Given the description of an element on the screen output the (x, y) to click on. 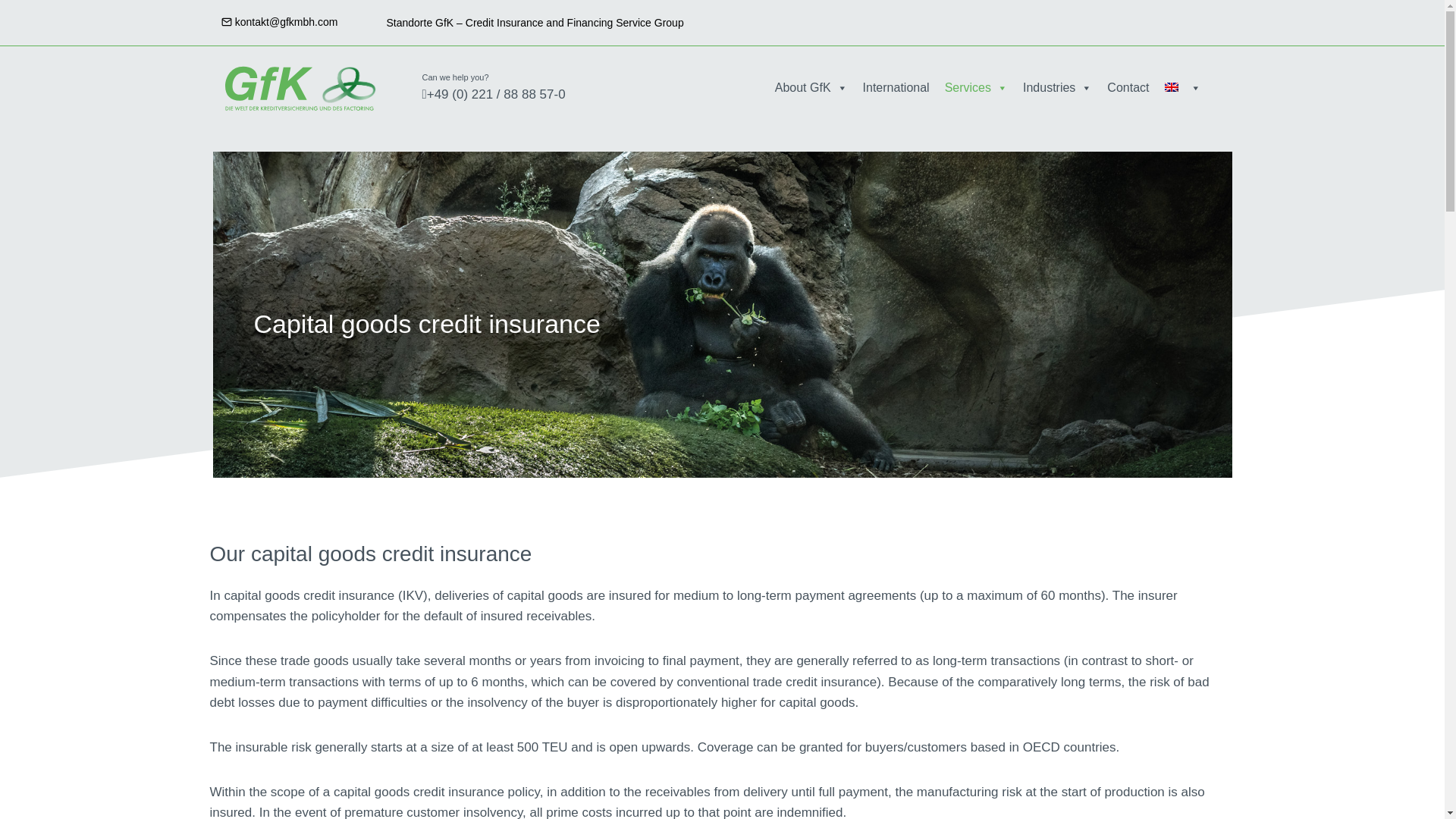
About GfK (811, 87)
International (896, 87)
Services (975, 87)
